Given the description of an element on the screen output the (x, y) to click on. 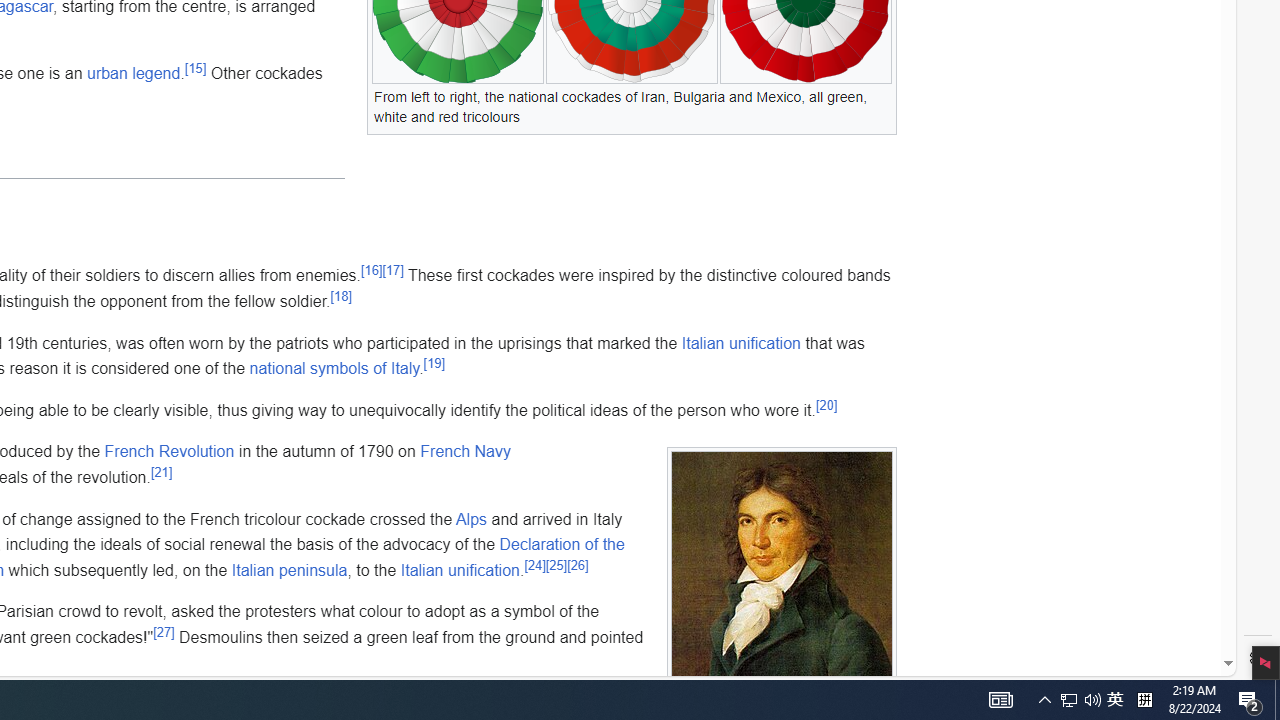
Settings (1258, 658)
[18] (341, 295)
[17] (392, 270)
[19] (433, 362)
[15] (195, 69)
urban legend (132, 73)
French Navy (465, 451)
[20] (826, 404)
[24] (534, 565)
Italian unification (459, 569)
[27] (164, 632)
Italian peninsula (289, 569)
[26] (577, 565)
[16] (371, 270)
[21] (160, 471)
